Given the description of an element on the screen output the (x, y) to click on. 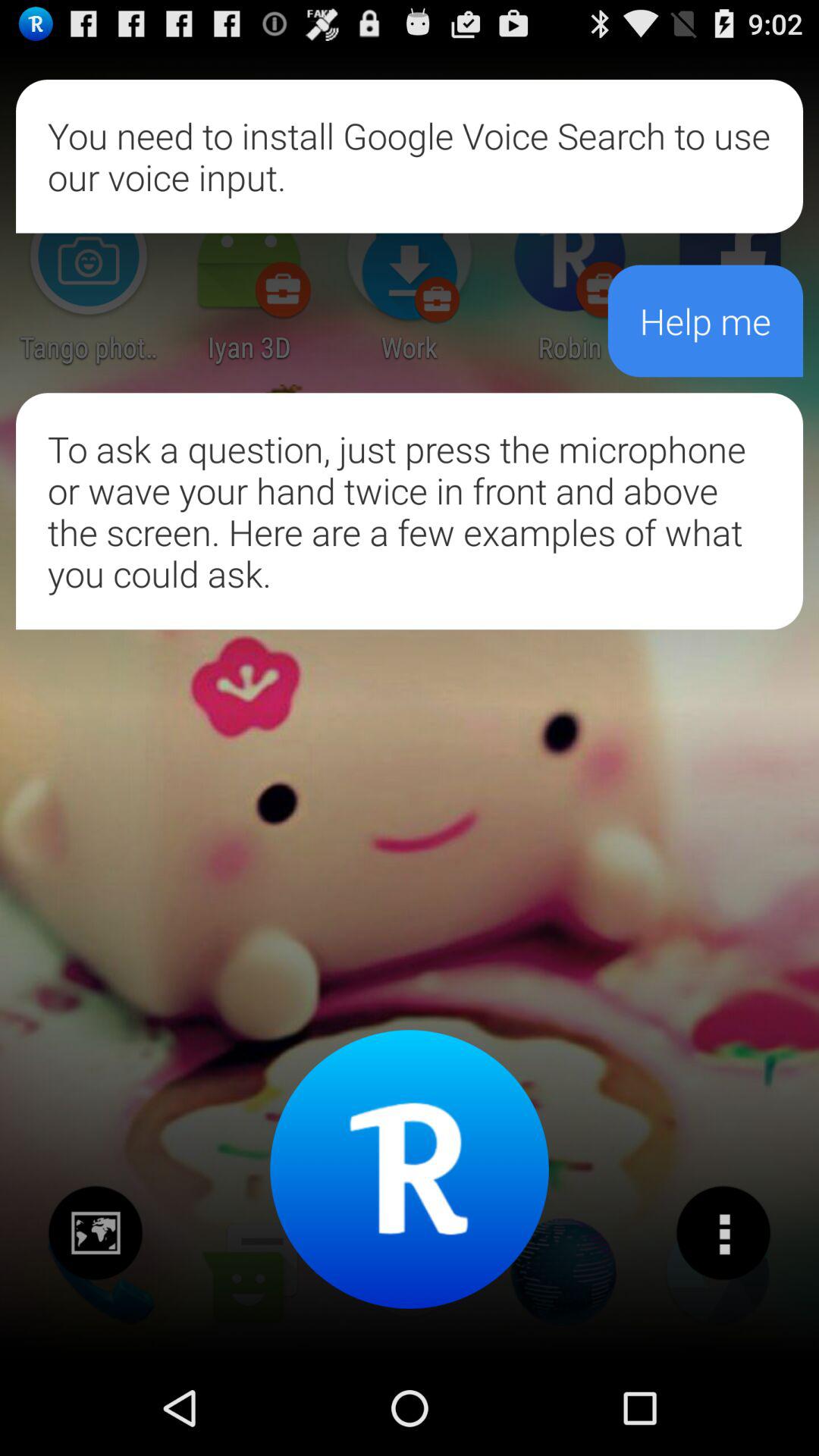
options (723, 1232)
